Given the description of an element on the screen output the (x, y) to click on. 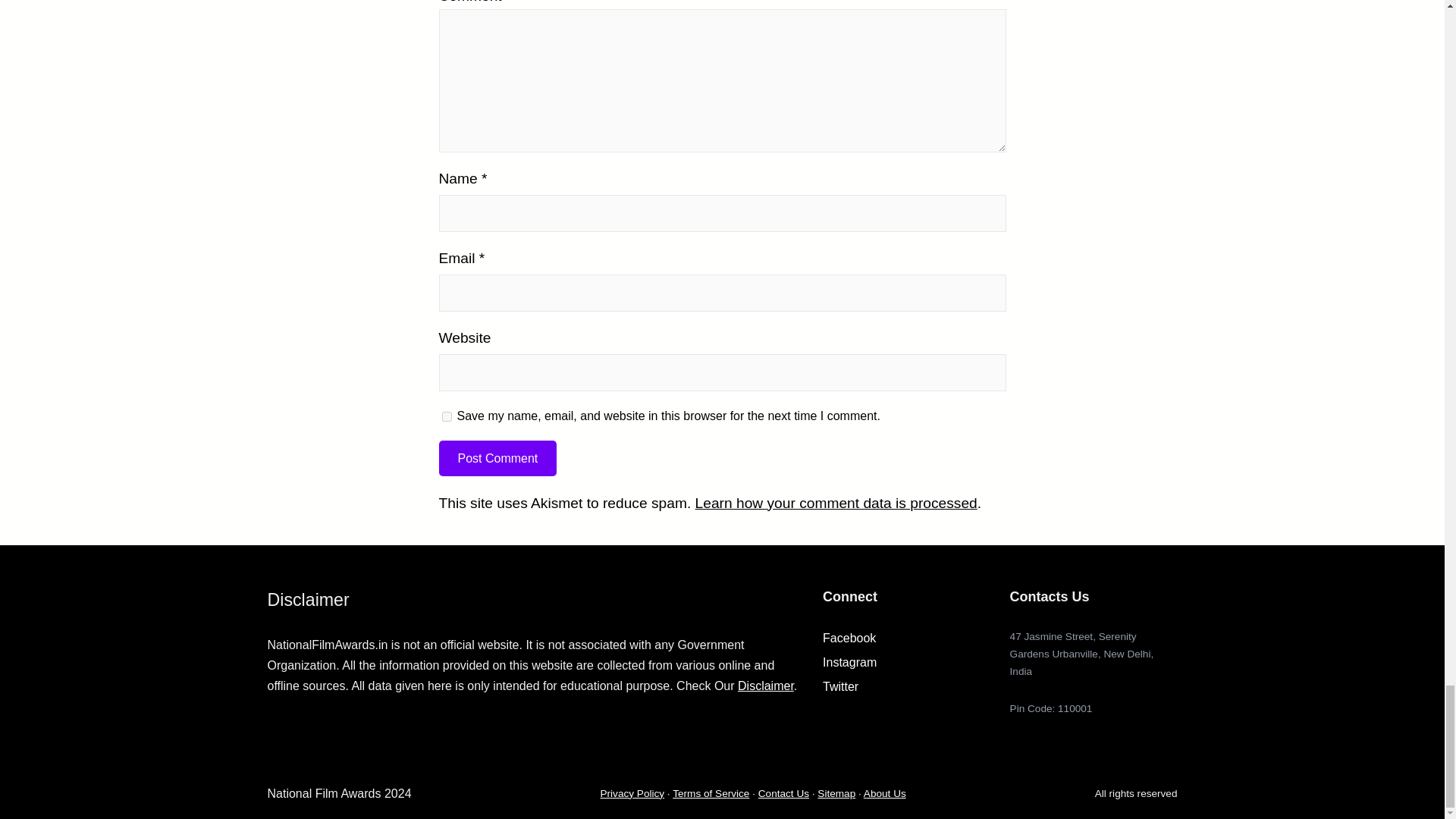
About Us (884, 793)
Post Comment (497, 457)
Contact Us (783, 793)
Sitemap (836, 793)
Privacy Policy (631, 793)
Facebook (849, 637)
Learn how your comment data is processed (835, 503)
Twitter (840, 686)
Disclaimer (765, 685)
Instagram (849, 662)
yes (446, 416)
Post Comment (497, 457)
Terms of Service (710, 793)
